Given the description of an element on the screen output the (x, y) to click on. 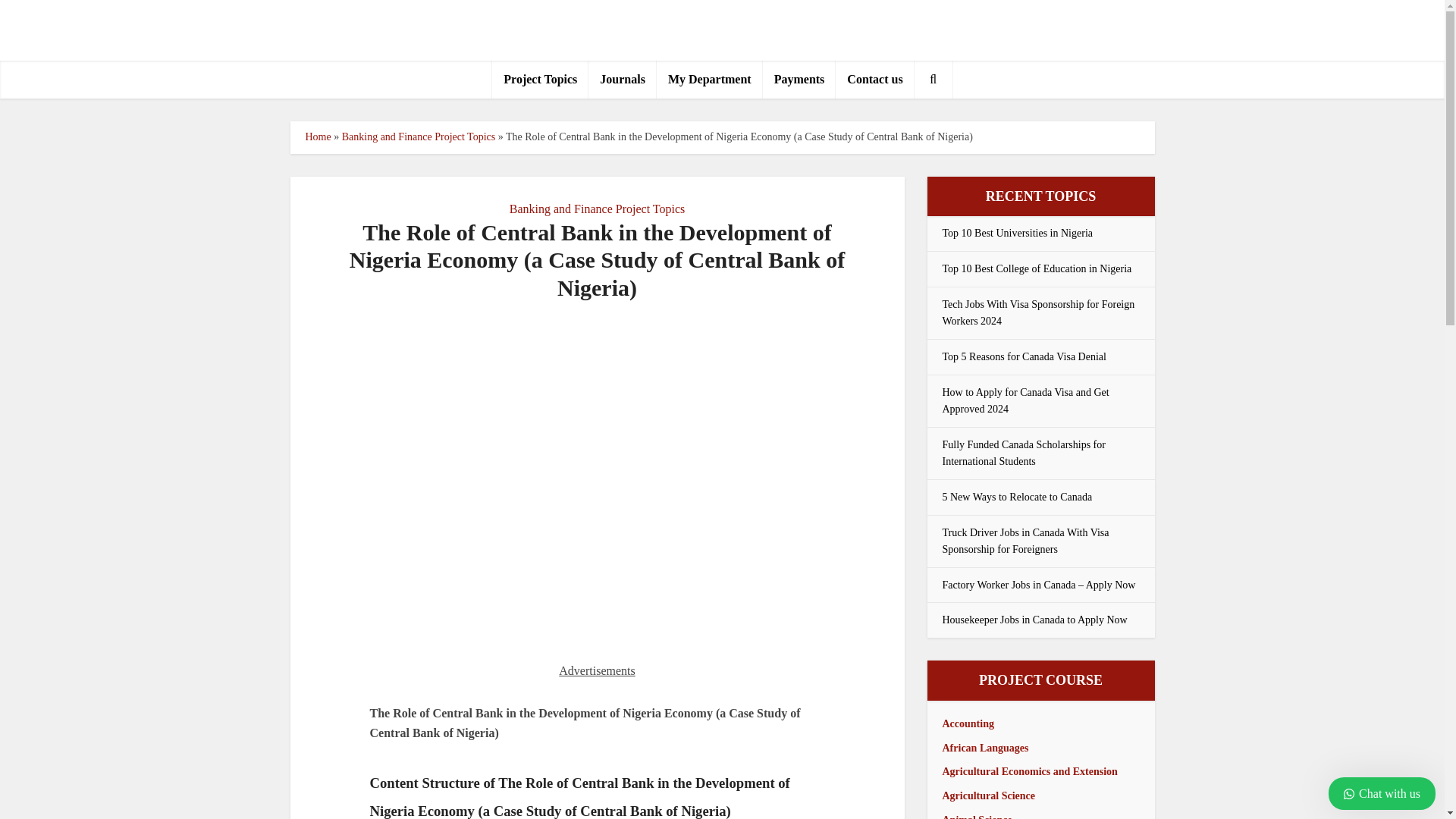
African Languages (984, 747)
Top 5 Reasons for Canada Visa Denial (1023, 356)
My Department (709, 79)
Top 10 Best Universities in Nigeria (1017, 233)
Payments (798, 79)
Project Topics (540, 79)
How to Apply for Canada Visa and Get Approved 2024 (1025, 400)
Journals (622, 79)
Banking and Finance Project Topics (596, 208)
Contact us (874, 79)
